Given the description of an element on the screen output the (x, y) to click on. 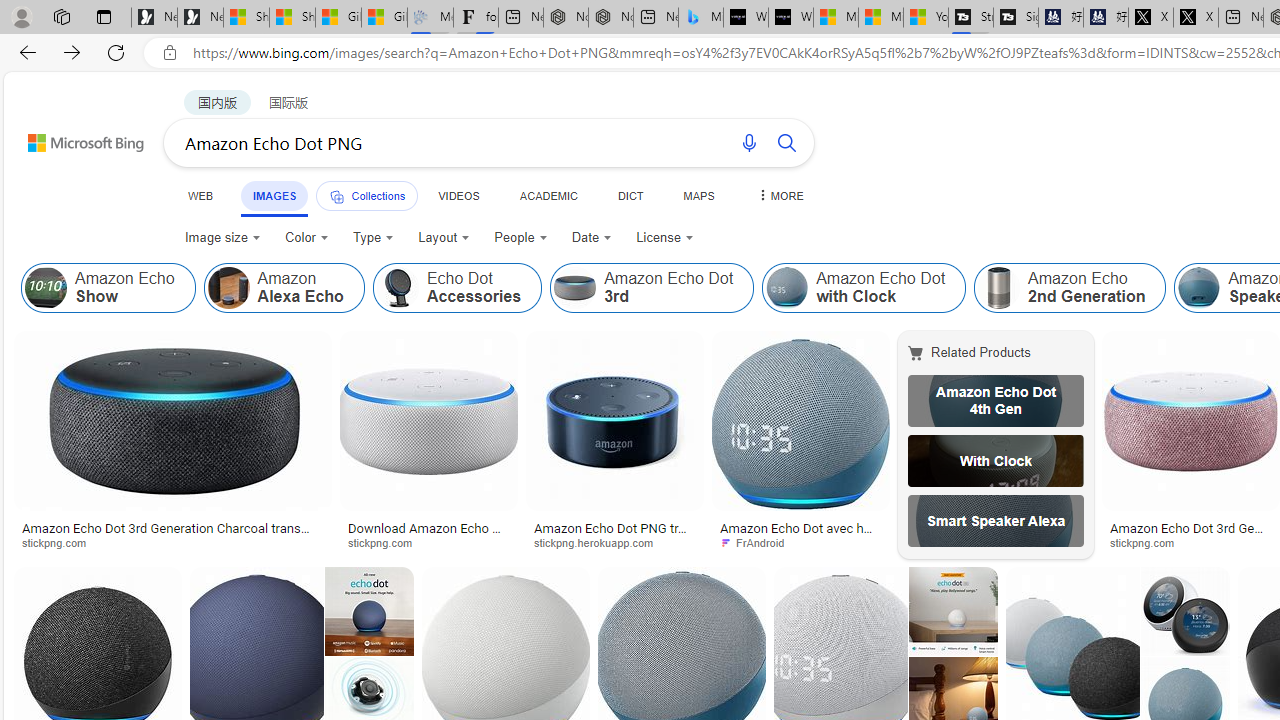
stickpng.com (1190, 542)
DICT (630, 195)
